Given the description of an element on the screen output the (x, y) to click on. 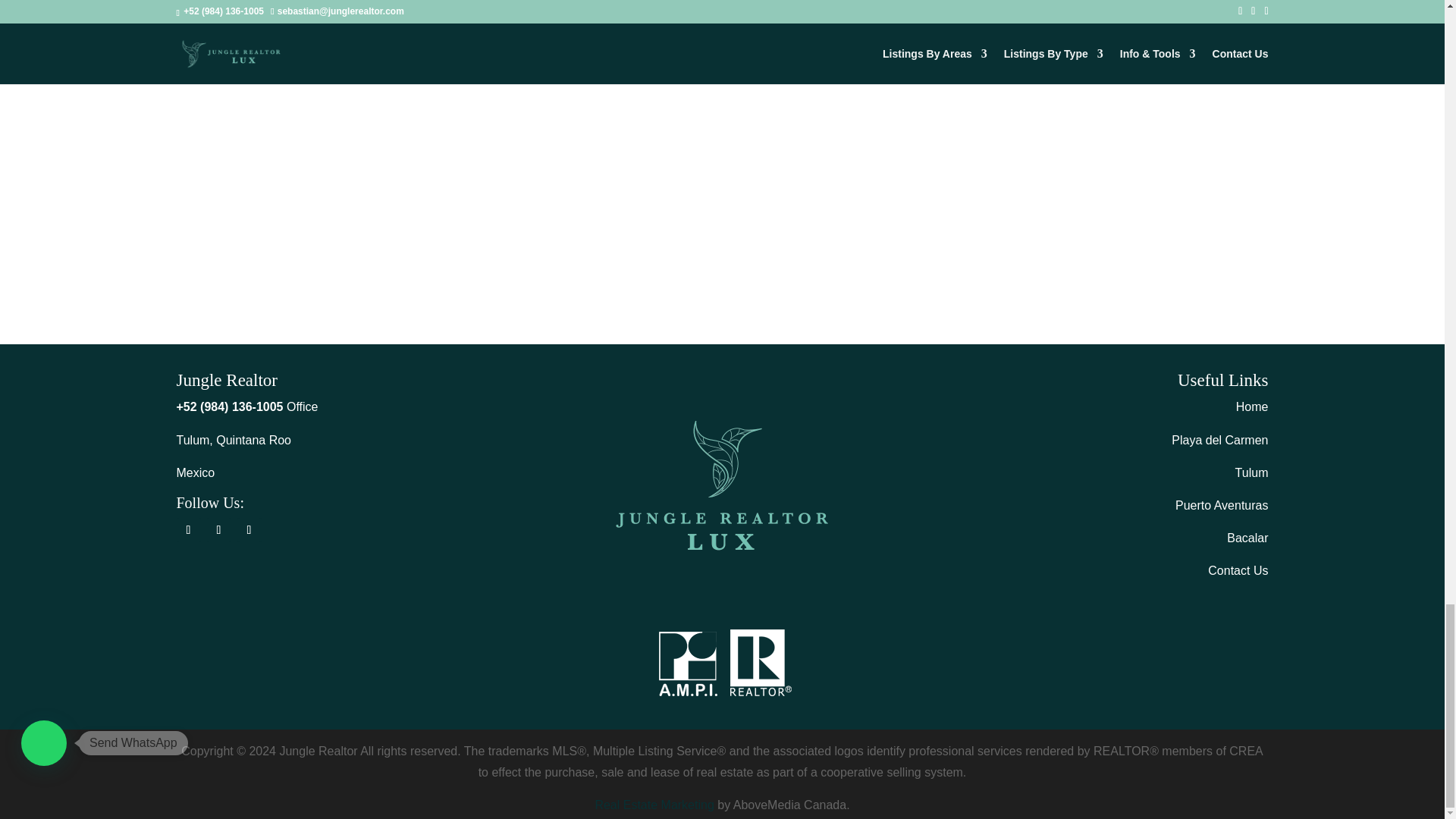
Follow on Facebook (188, 529)
Real Estate Marketing (653, 804)
Follow on X (218, 529)
AGUAVL (721, 484)
Contact Us (1238, 570)
Tulum Real Estate (1251, 472)
Playa del Carmen Real Estate (1220, 440)
Follow on Instagram (247, 529)
Bacalar Real Estate (1247, 537)
Realtor-AMPI (722, 663)
Puerto Aventuras Real Estate (1221, 504)
